Given the description of an element on the screen output the (x, y) to click on. 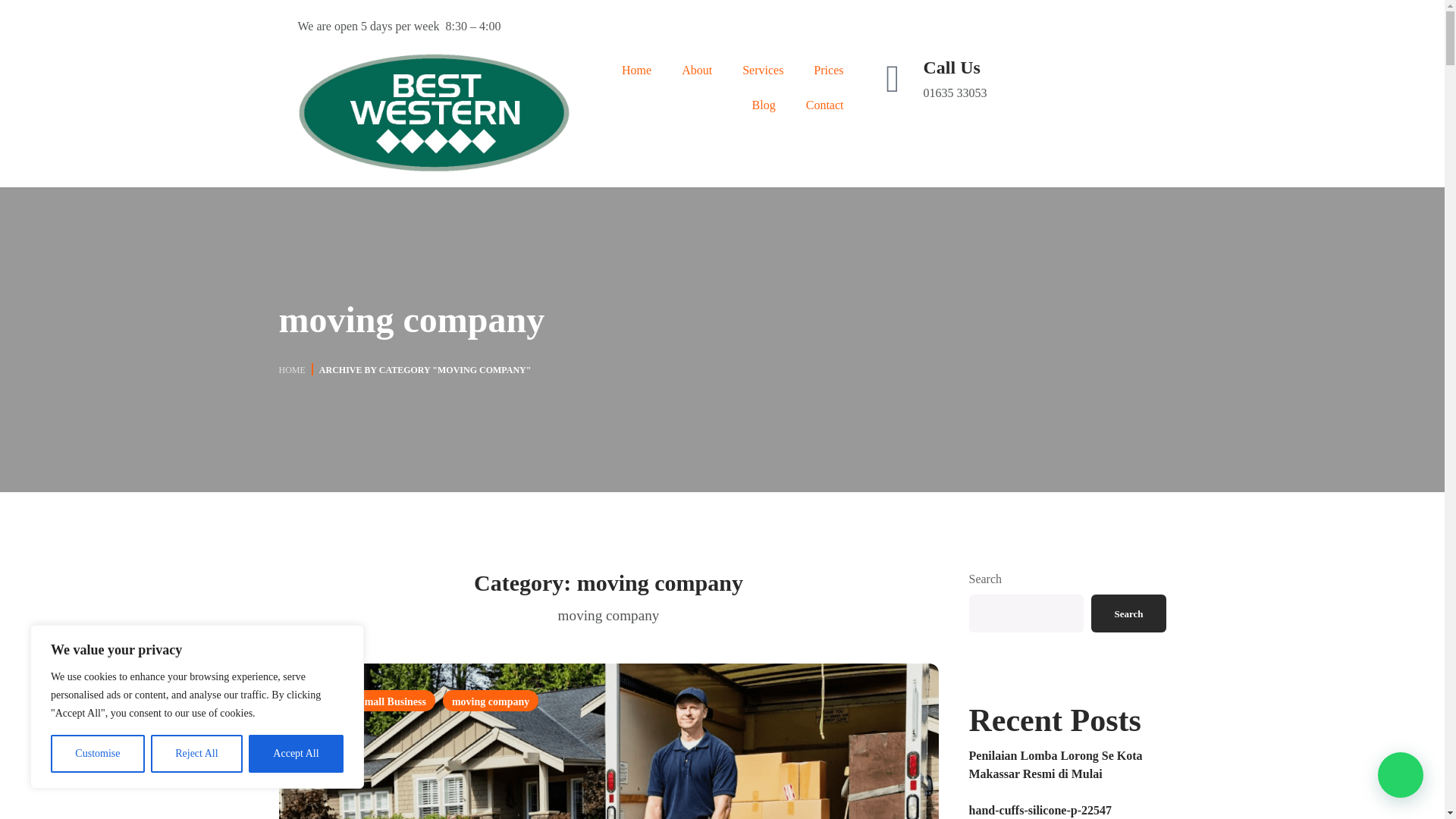
Accept All (295, 753)
Customise (97, 753)
Reject All (197, 753)
Prices (828, 70)
About (696, 70)
Services (761, 70)
Blog (763, 104)
Home (636, 70)
Contact (824, 104)
